Given the description of an element on the screen output the (x, y) to click on. 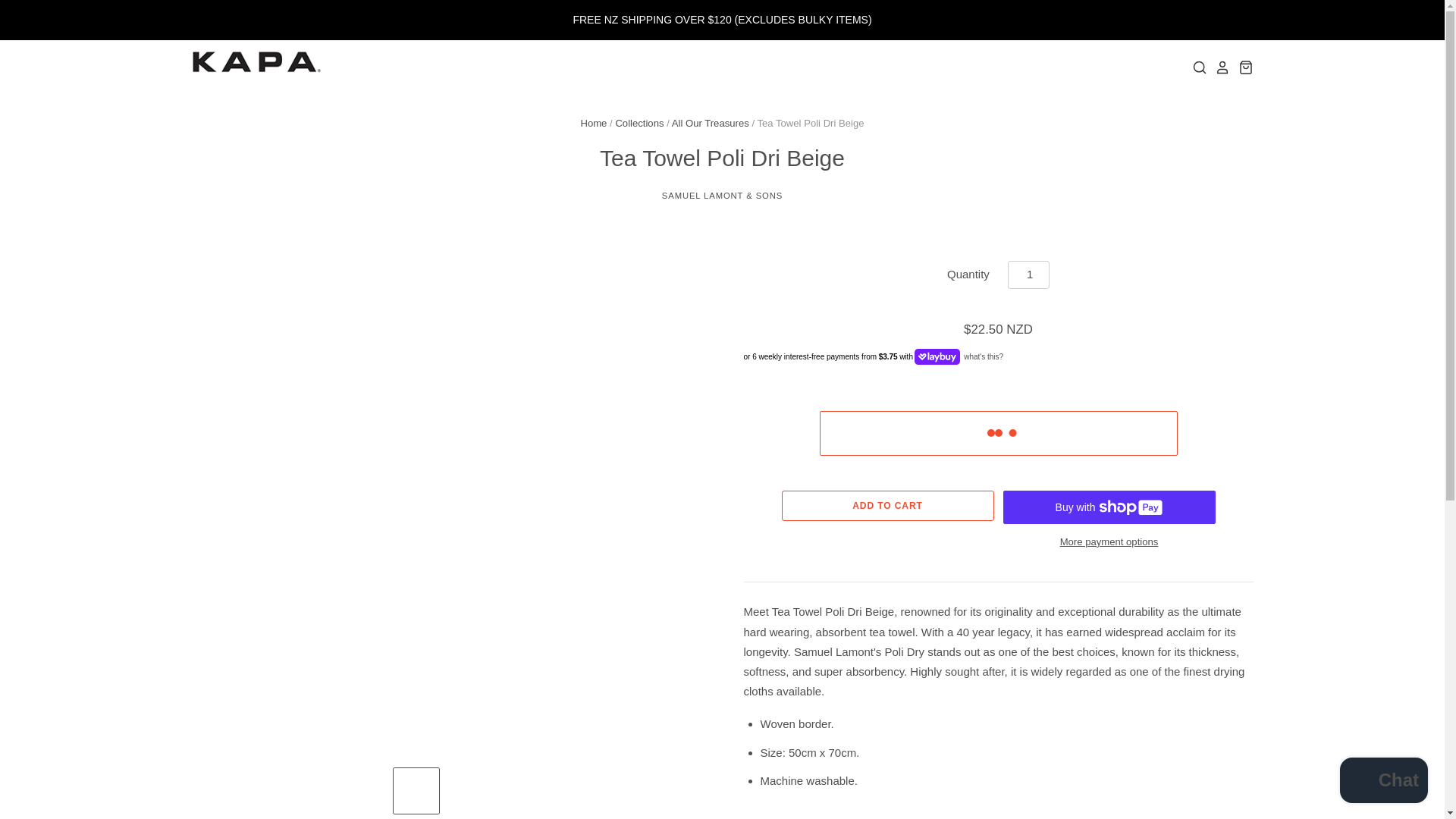
Shopify online store chat (1383, 781)
1 (1028, 275)
Add to cart (886, 505)
